Given the description of an element on the screen output the (x, y) to click on. 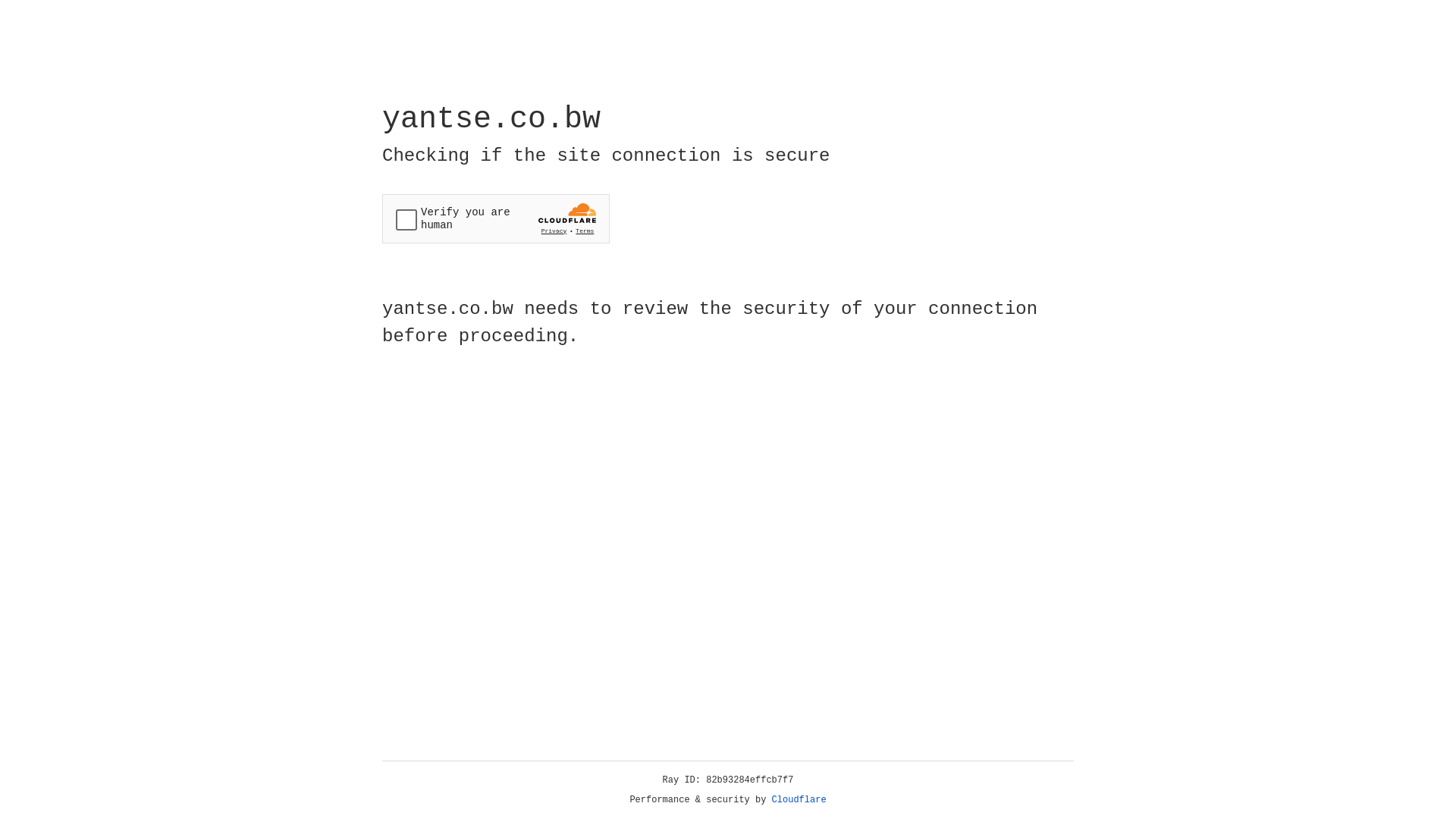
Cloudflare Element type: text (798, 799)
Widget containing a Cloudflare security challenge Element type: hover (495, 218)
